Given the description of an element on the screen output the (x, y) to click on. 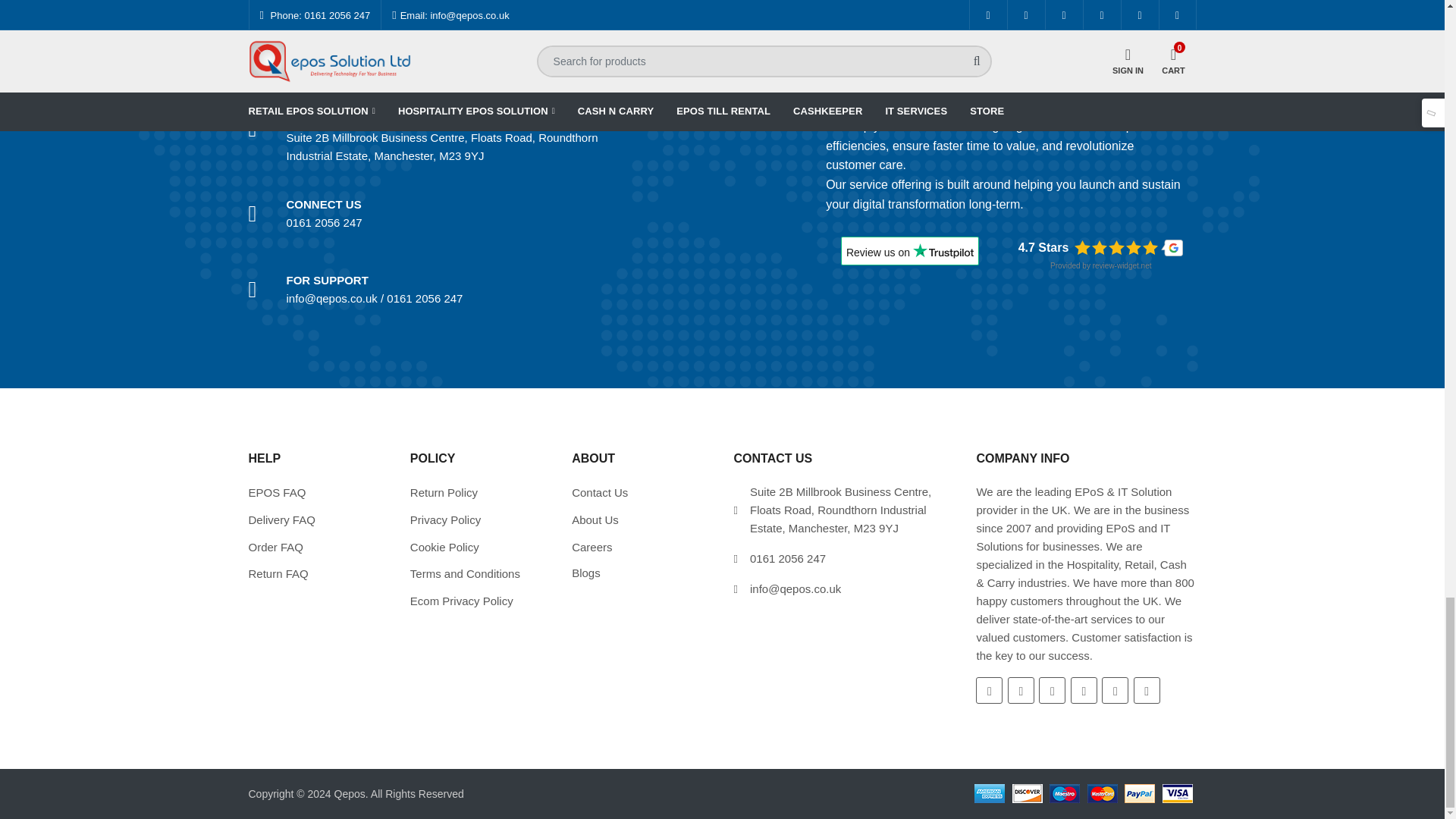
Customer reviews powered by Trustpilot (909, 256)
